Given the description of an element on the screen output the (x, y) to click on. 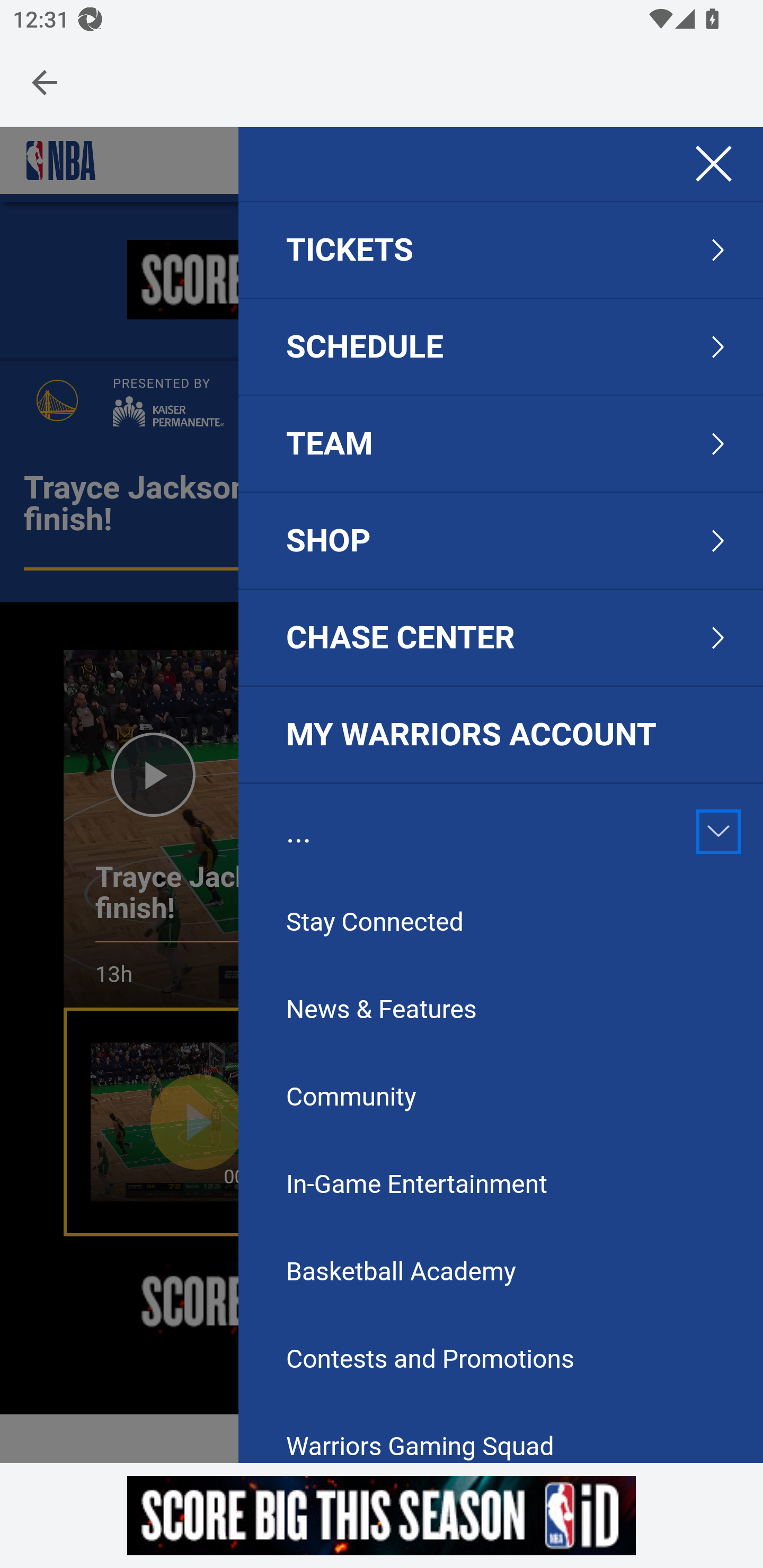
Navigate up (44, 82)
Global Navigation Toggle (713, 164)
TICKETS (349, 249)
SCHEDULE (365, 347)
TEAM (329, 444)
SHOP (329, 540)
CHASE CENTER (400, 638)
MY WARRIORS ACCOUNT (500, 735)
... (298, 831)
Stay Connected Stay Connected Stay Connected (460, 922)
News & Features News & Features News & Features (460, 1010)
Community Community Community (460, 1098)
